Given the description of an element on the screen output the (x, y) to click on. 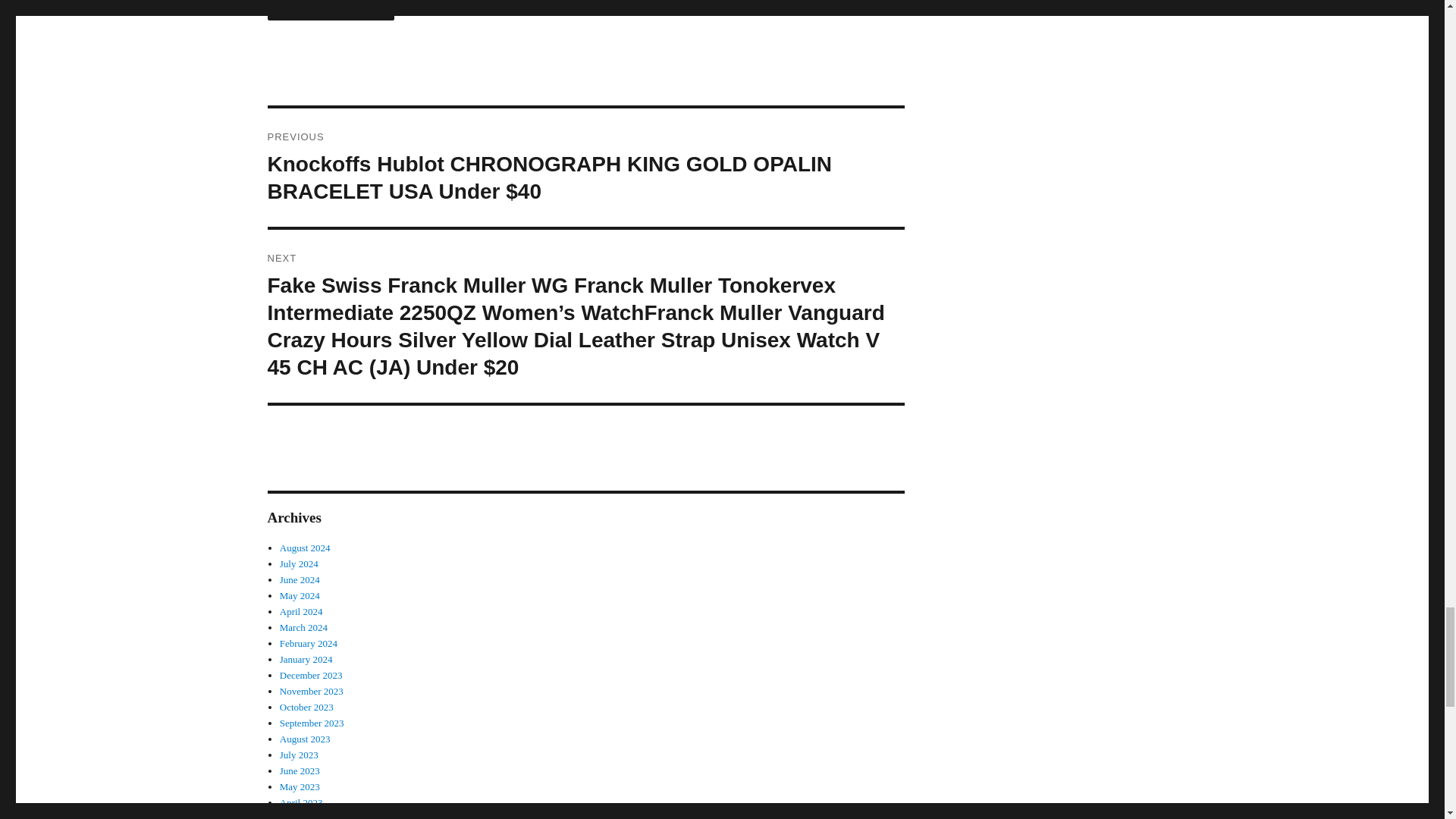
June 2024 (299, 579)
July 2023 (298, 754)
Post Comment (330, 10)
April 2023 (301, 802)
March 2024 (303, 627)
October 2023 (306, 706)
December 2023 (310, 674)
November 2023 (311, 690)
February 2024 (308, 643)
Post Comment (330, 10)
January 2024 (306, 659)
September 2023 (311, 722)
August 2023 (304, 738)
May 2023 (299, 786)
July 2024 (298, 563)
